Given the description of an element on the screen output the (x, y) to click on. 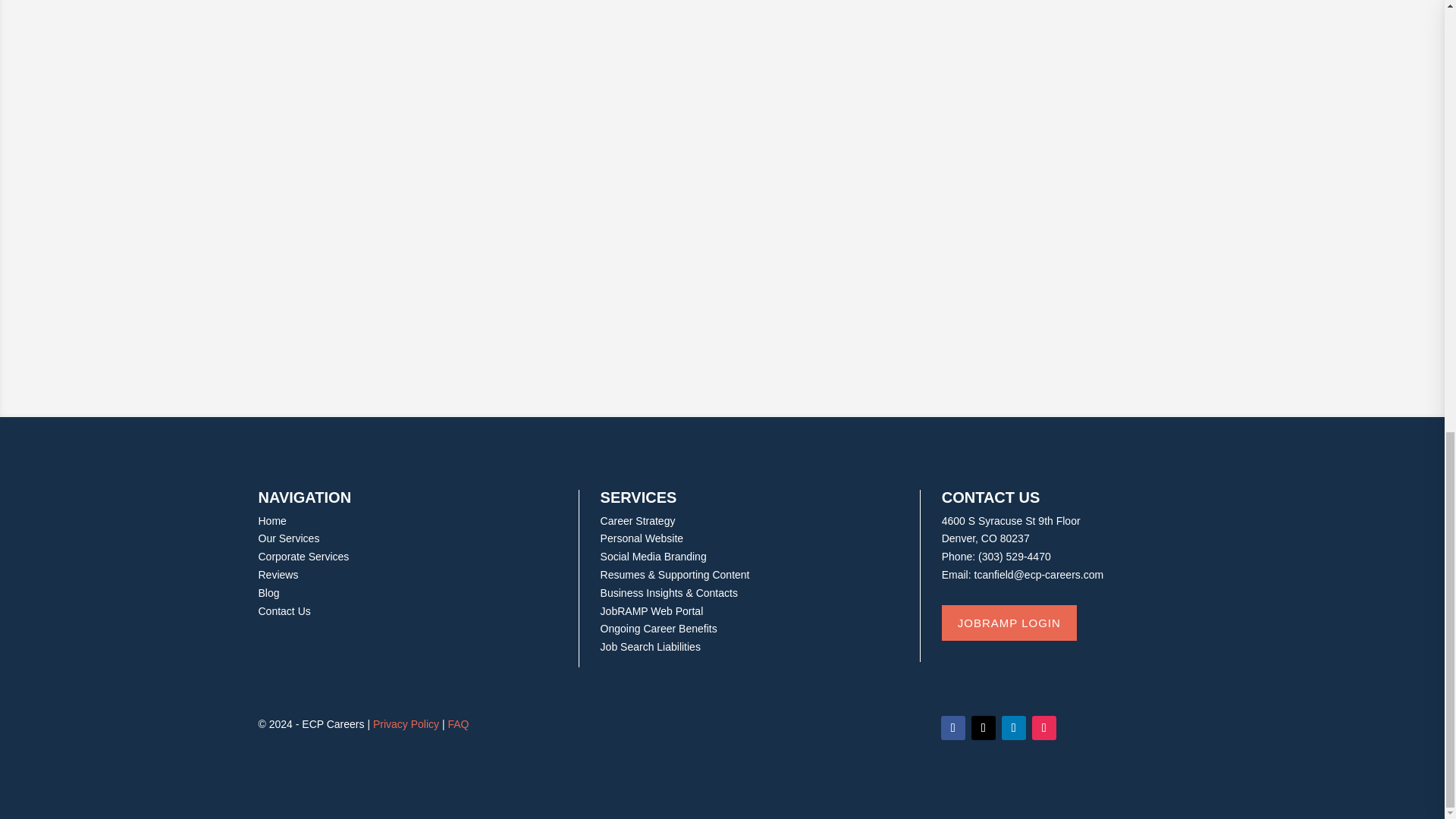
Follow on Instagram (1044, 727)
Follow on Facebook (952, 727)
Follow on X (983, 727)
Follow on LinkedIn (1013, 727)
